Given the description of an element on the screen output the (x, y) to click on. 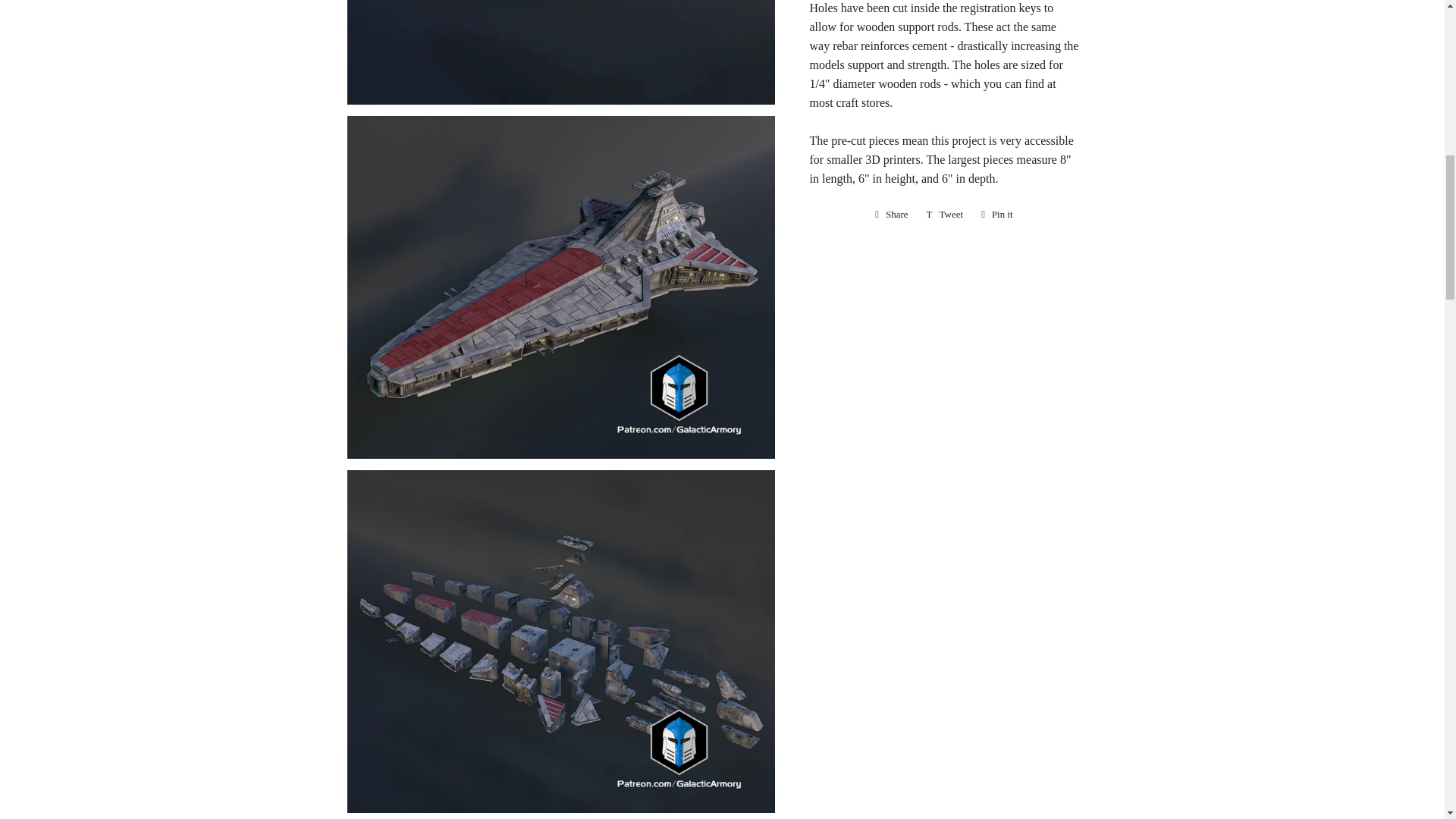
Share on Facebook (891, 214)
Tweet on Twitter (944, 214)
Pin on Pinterest (997, 214)
